Given the description of an element on the screen output the (x, y) to click on. 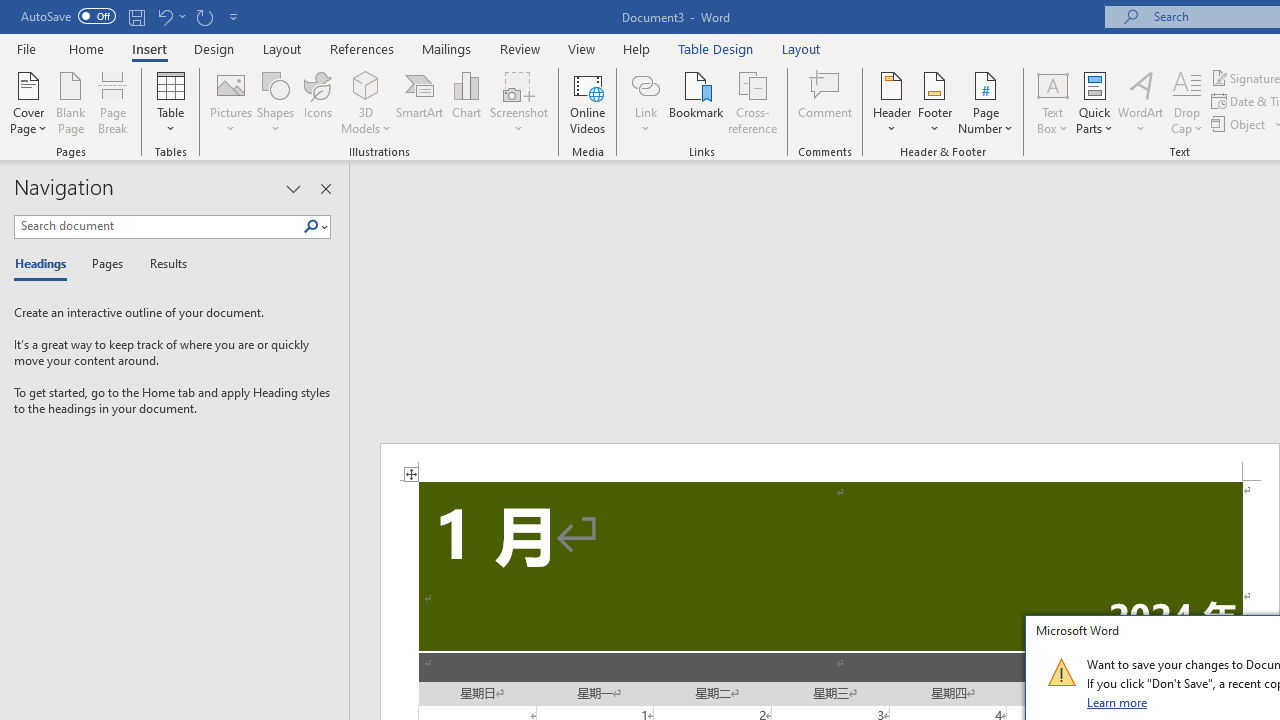
Results (161, 264)
System (10, 11)
Cover Page (28, 102)
Drop Cap (1187, 102)
3D Models (366, 84)
Help (637, 48)
Learn more (1118, 702)
Blank Page (70, 102)
Header -Section 1- (830, 461)
File Tab (26, 48)
WordArt (1141, 102)
Table Design (715, 48)
AutoSave (68, 16)
Search document (157, 226)
